Given the description of an element on the screen output the (x, y) to click on. 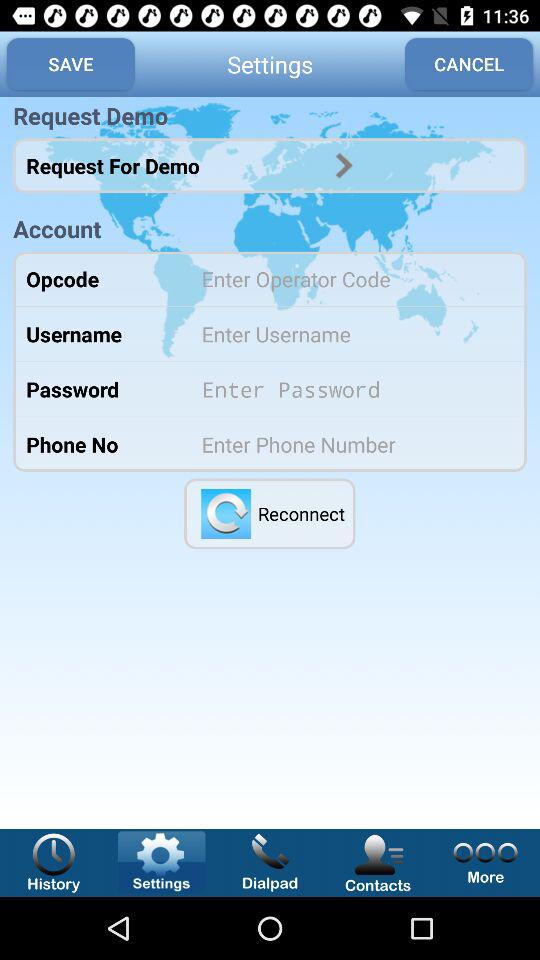
reconnect (226, 513)
